Given the description of an element on the screen output the (x, y) to click on. 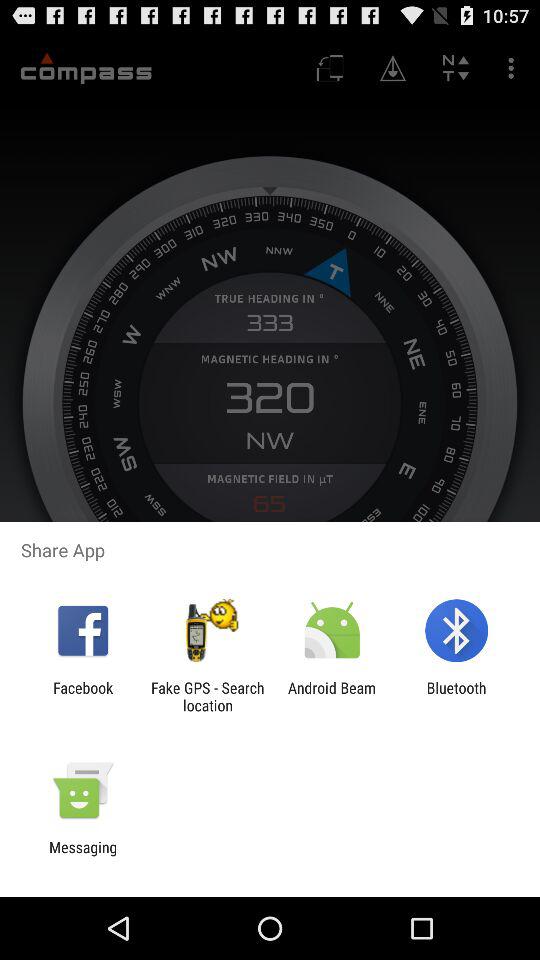
jump until the facebook item (83, 696)
